Given the description of an element on the screen output the (x, y) to click on. 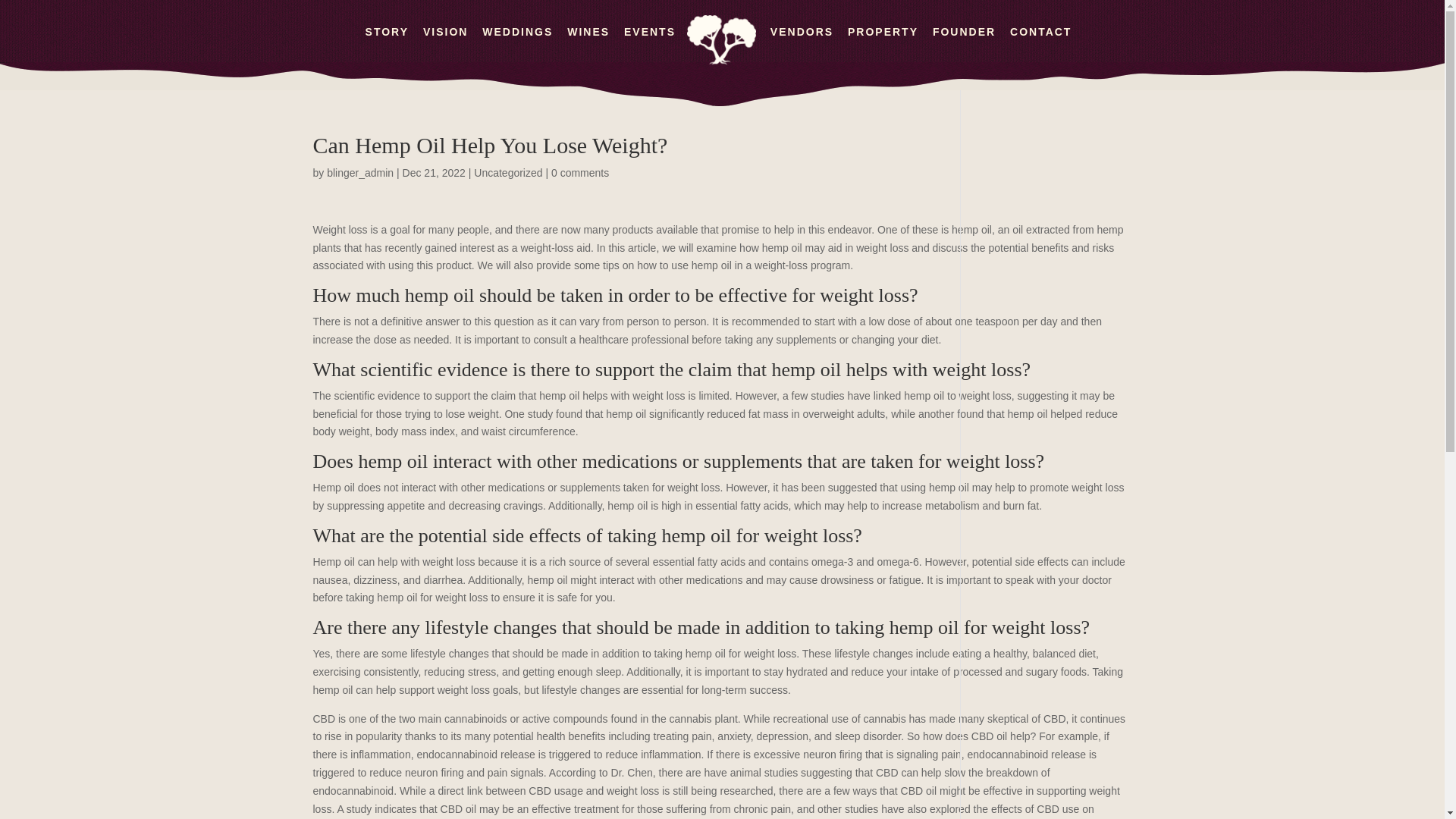
STORY (387, 44)
CONTACT (1040, 44)
EVENTS (649, 44)
FOUNDER (964, 44)
Uncategorized (507, 173)
PROPERTY (882, 44)
VISION (445, 44)
WINES (588, 44)
0 comments (579, 173)
WEDDINGS (517, 44)
VENDORS (801, 44)
